Given the description of an element on the screen output the (x, y) to click on. 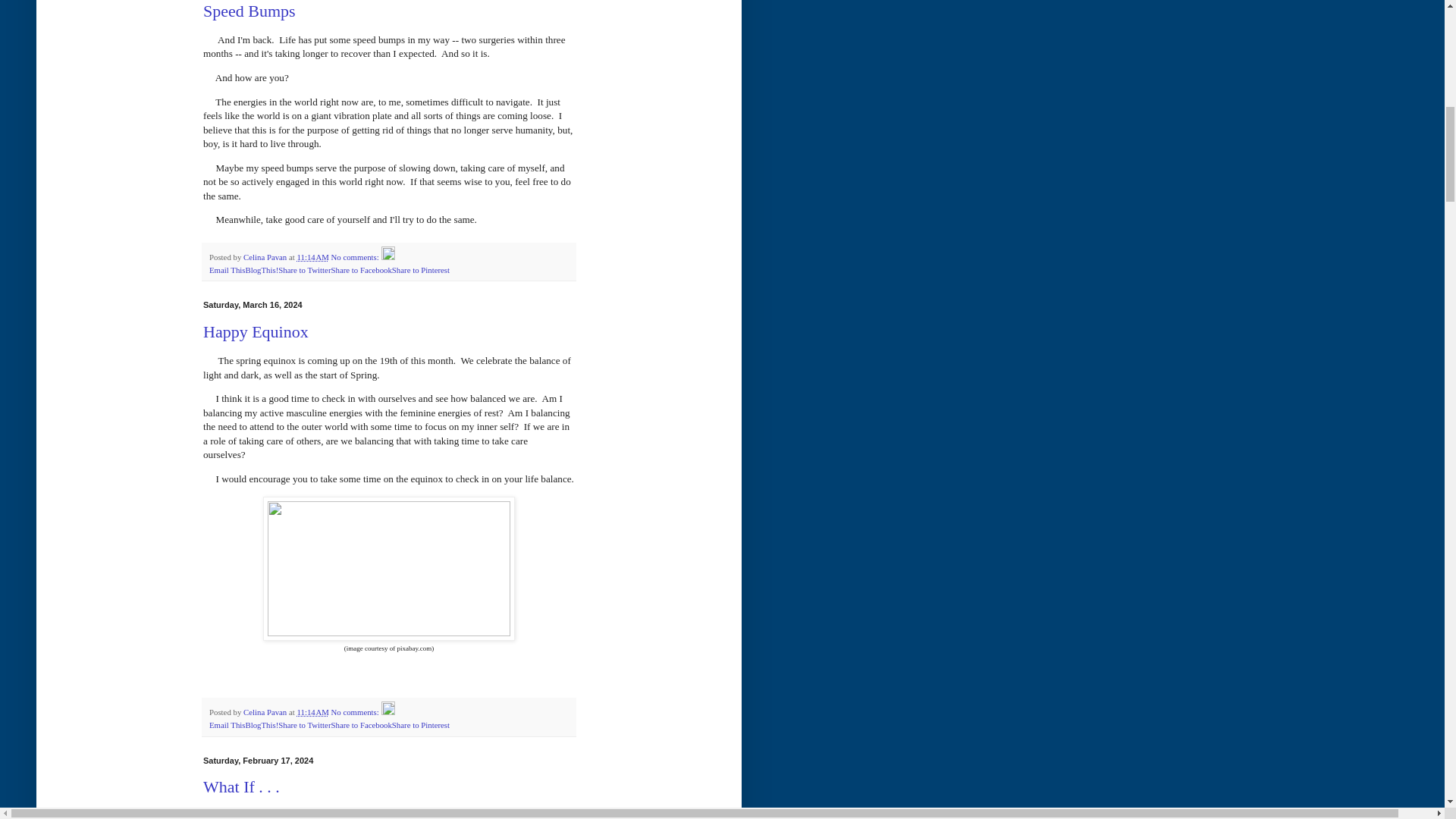
BlogThis! (261, 724)
author profile (265, 256)
What If . . . (241, 786)
permanent link (313, 256)
Edit Post (387, 256)
BlogThis! (261, 269)
Share to Twitter (304, 269)
Happy Equinox (255, 331)
No comments: (356, 711)
Share to Pinterest (420, 724)
Share to Pinterest (420, 269)
Email This (226, 269)
Email This (226, 269)
Celina Pavan (265, 256)
No comments: (356, 256)
